Given the description of an element on the screen output the (x, y) to click on. 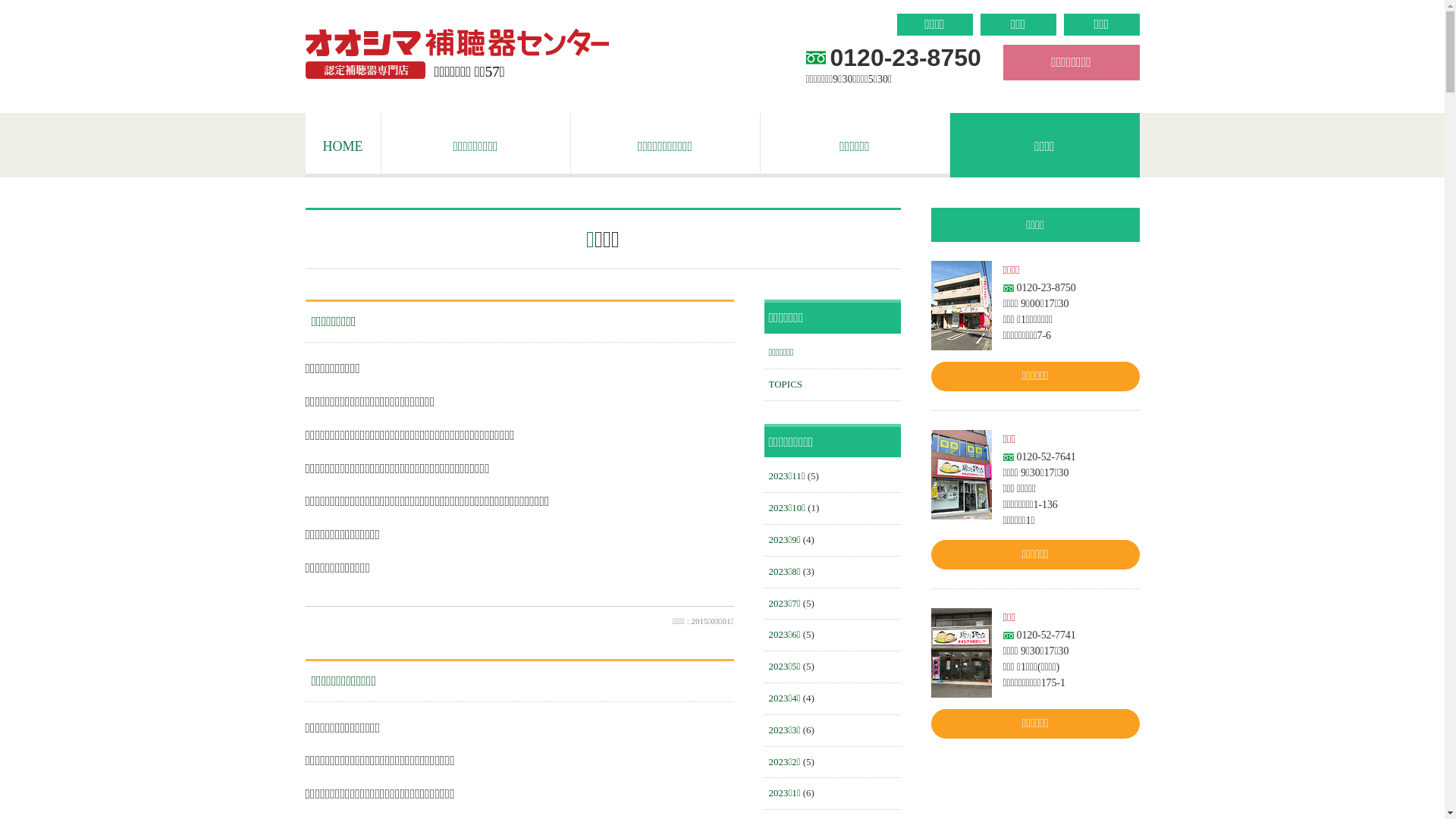
HOME Element type: text (341, 144)
TOPICS Element type: text (785, 383)
